Given the description of an element on the screen output the (x, y) to click on. 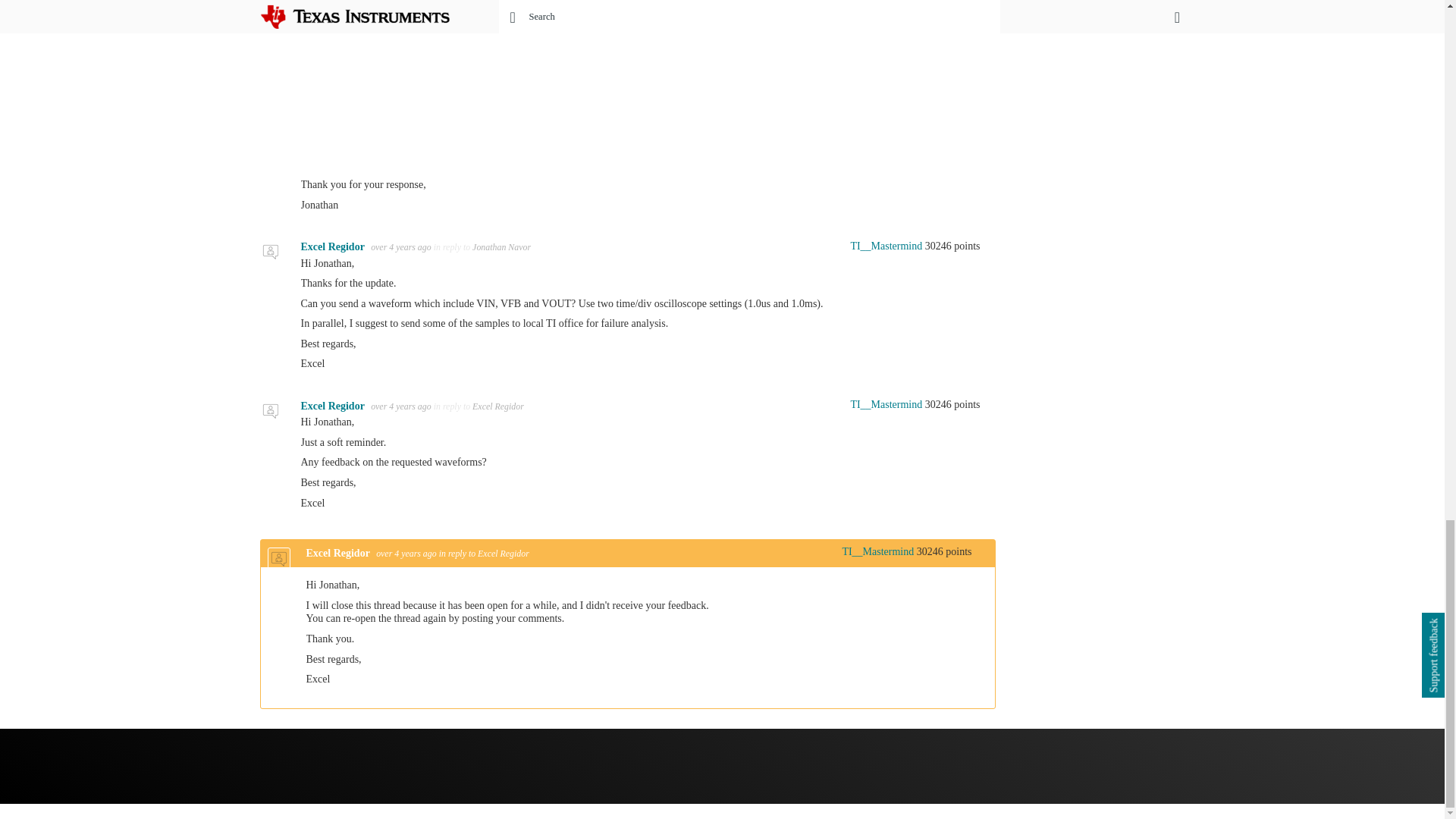
Click here for explanation of levels (879, 245)
Click here for explanation of levels (879, 404)
Click here for explanation of levels (871, 551)
